Given the description of an element on the screen output the (x, y) to click on. 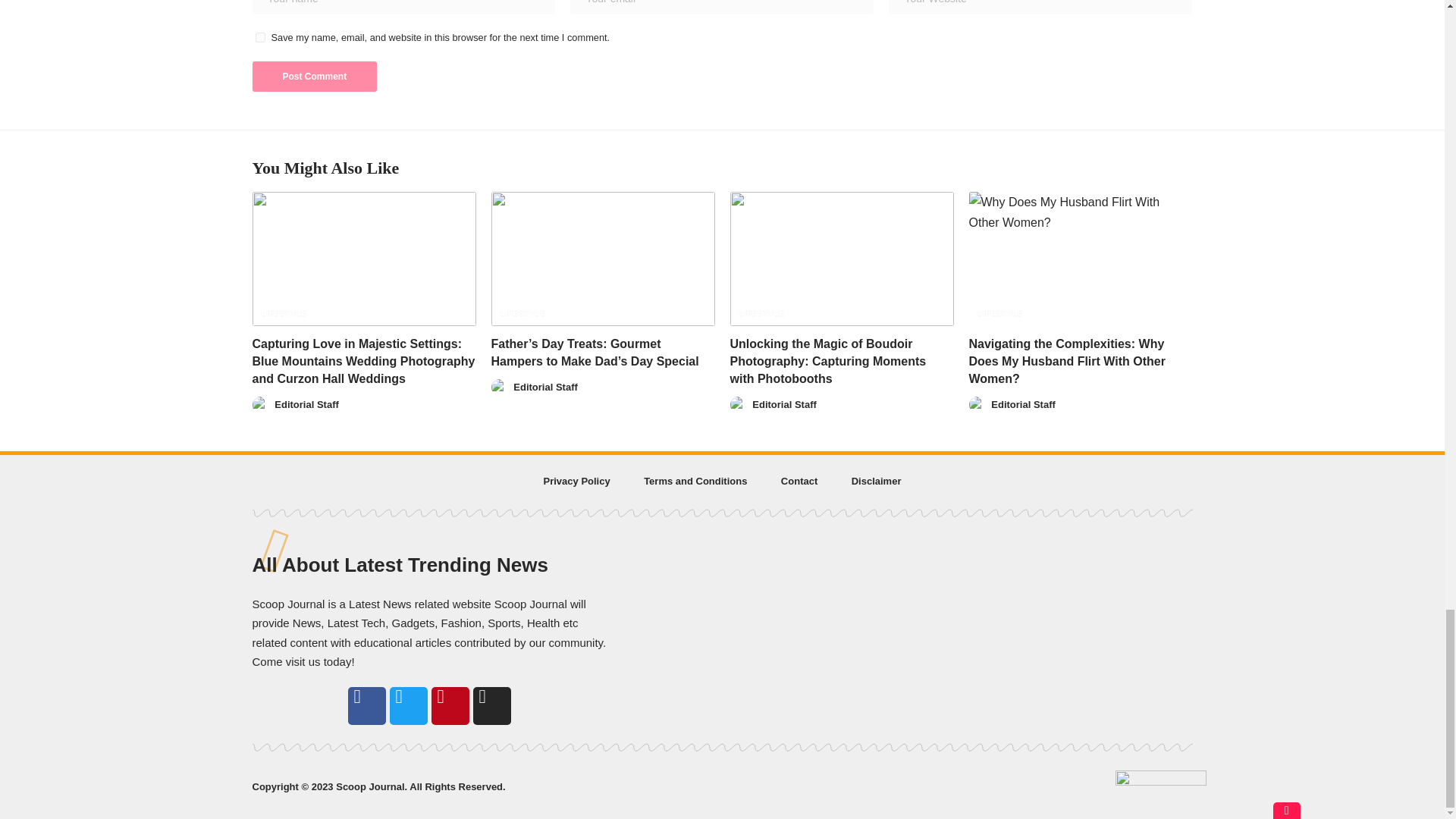
Post Comment (314, 76)
yes (259, 37)
